Given the description of an element on the screen output the (x, y) to click on. 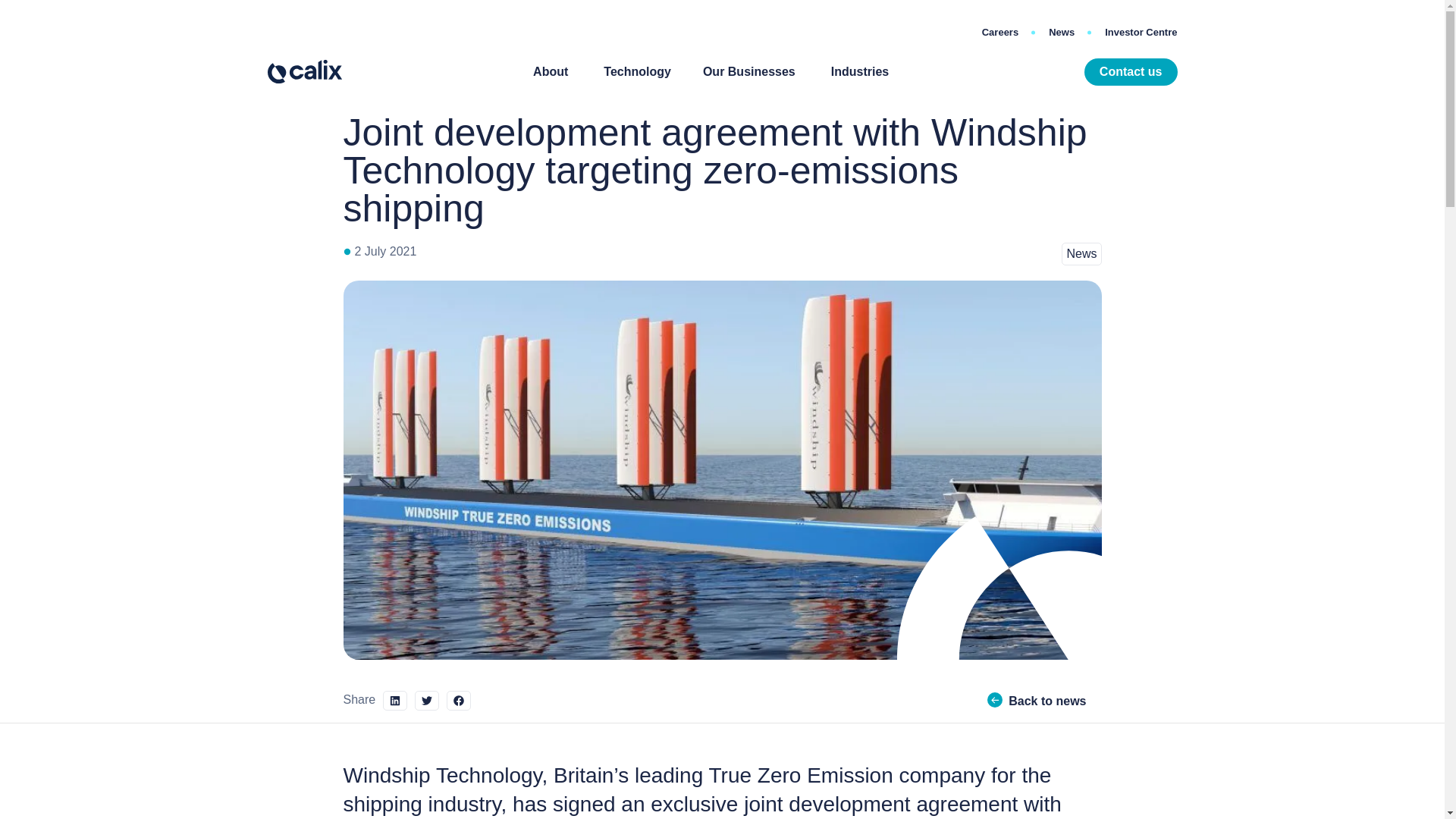
News (1061, 32)
About (549, 72)
Industries (859, 72)
Investor Centre (1132, 32)
Our Businesses (748, 72)
Careers (999, 32)
Technology (637, 72)
